Given the description of an element on the screen output the (x, y) to click on. 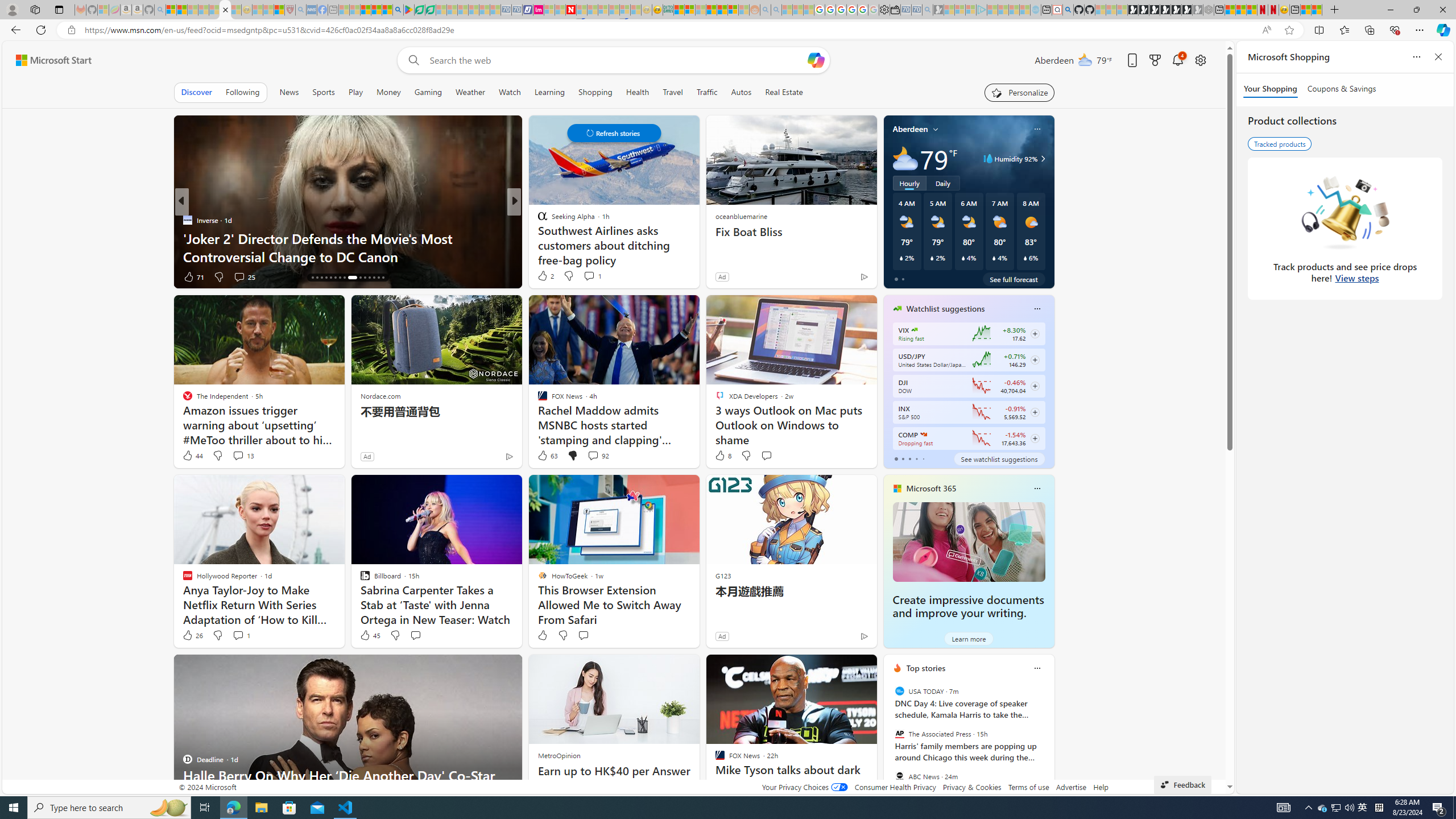
Shopping (595, 92)
Bluey: Let's Play! - Apps on Google Play (408, 9)
Advertise (1070, 786)
Notifications (1177, 60)
Microsoft Start (365, 9)
See watchlist suggestions (999, 459)
Play (354, 92)
Discover (196, 92)
63 Like (546, 455)
MSNBC - MSN - Sleeping (343, 9)
ABC News (898, 775)
Weather (470, 92)
